Given the description of an element on the screen output the (x, y) to click on. 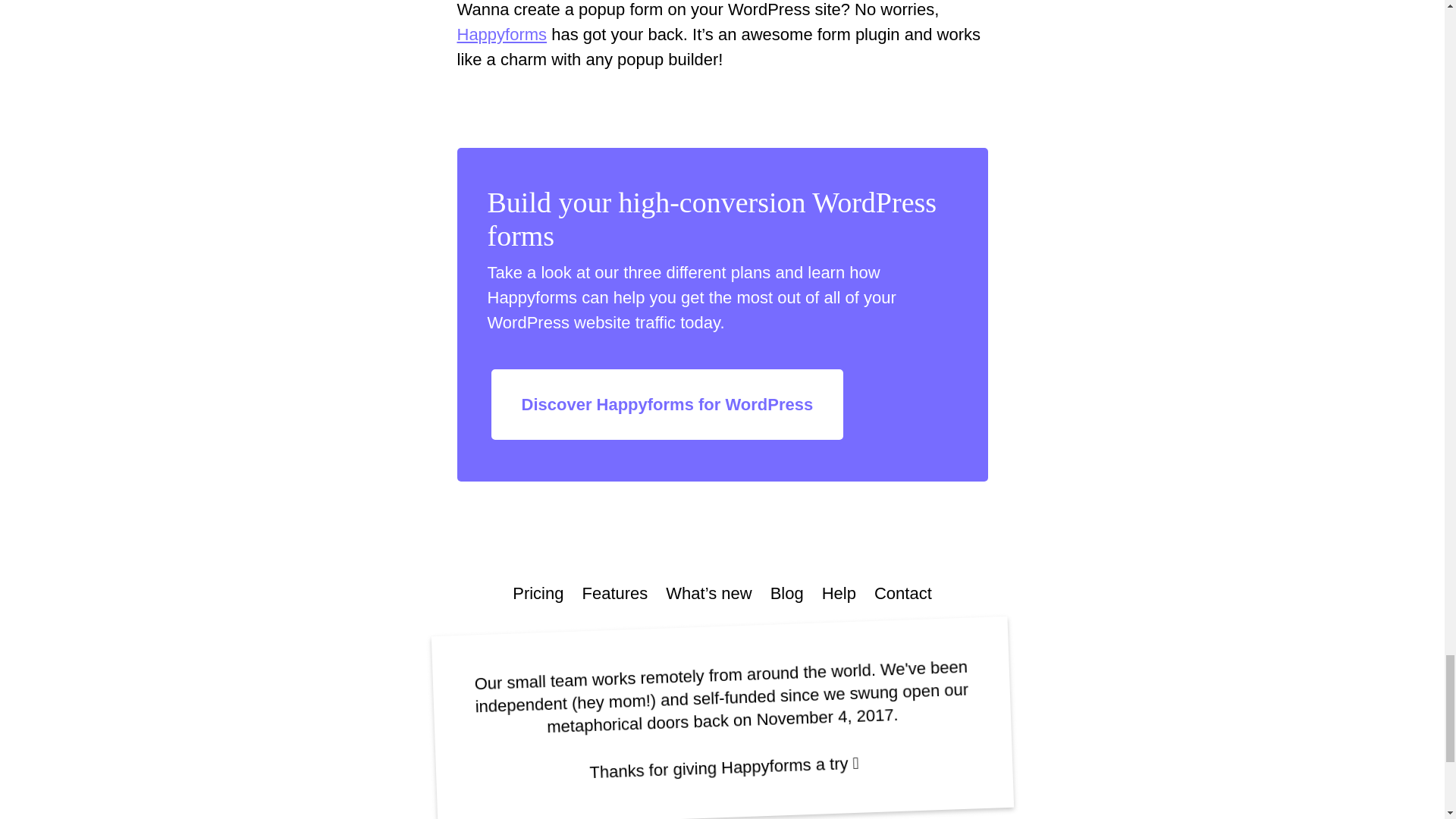
Blog (786, 592)
Contact (903, 592)
Features (613, 592)
Happyforms (502, 34)
Discover Happyforms for WordPress (666, 404)
Pricing (537, 592)
Help (839, 592)
